Given the description of an element on the screen output the (x, y) to click on. 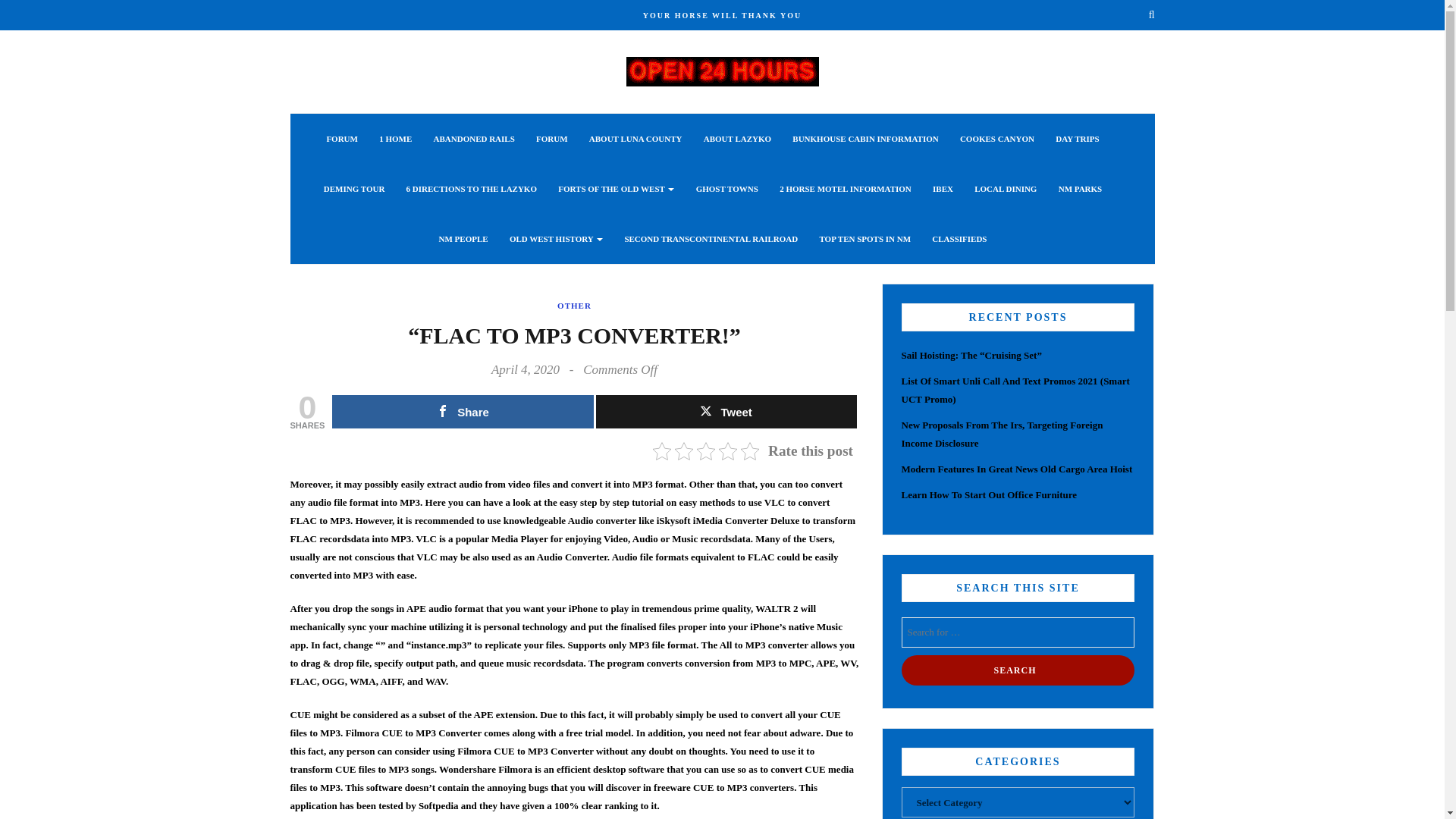
COOKES CANYON (996, 138)
BUNKHOUSE CABIN INFORMATION (864, 138)
LOCAL DINING (1005, 188)
FORTS OF THE OLD WEST (615, 188)
Welcome to the Lazy KO Ranch (722, 70)
Forts of the Old West (615, 188)
GHOST TOWNS (726, 188)
NM PEOPLE (463, 238)
Cookes Canyon (996, 138)
Search (1017, 670)
OLD WEST HISTORY (555, 238)
6 DIRECTIONS TO THE LAZYKO (471, 188)
Deming Tour (354, 188)
Abandoned Rails (474, 138)
DEMING TOUR (354, 188)
